Given the description of an element on the screen output the (x, y) to click on. 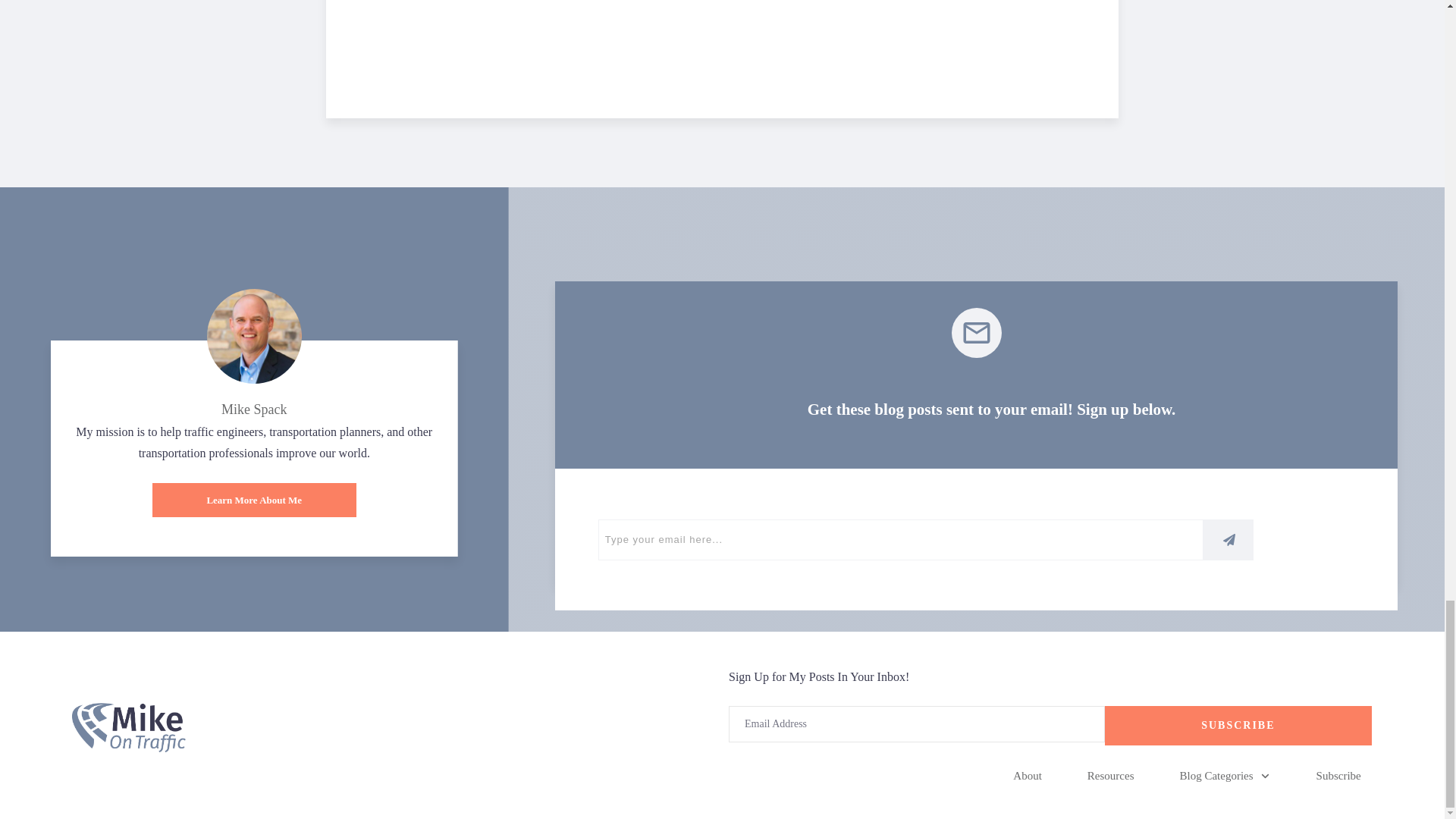
About (1027, 775)
Learn More About Me (254, 500)
SUBSCRIBE (1238, 725)
Resources (1110, 775)
Blog Categories (1225, 775)
undefined (253, 336)
